Given the description of an element on the screen output the (x, y) to click on. 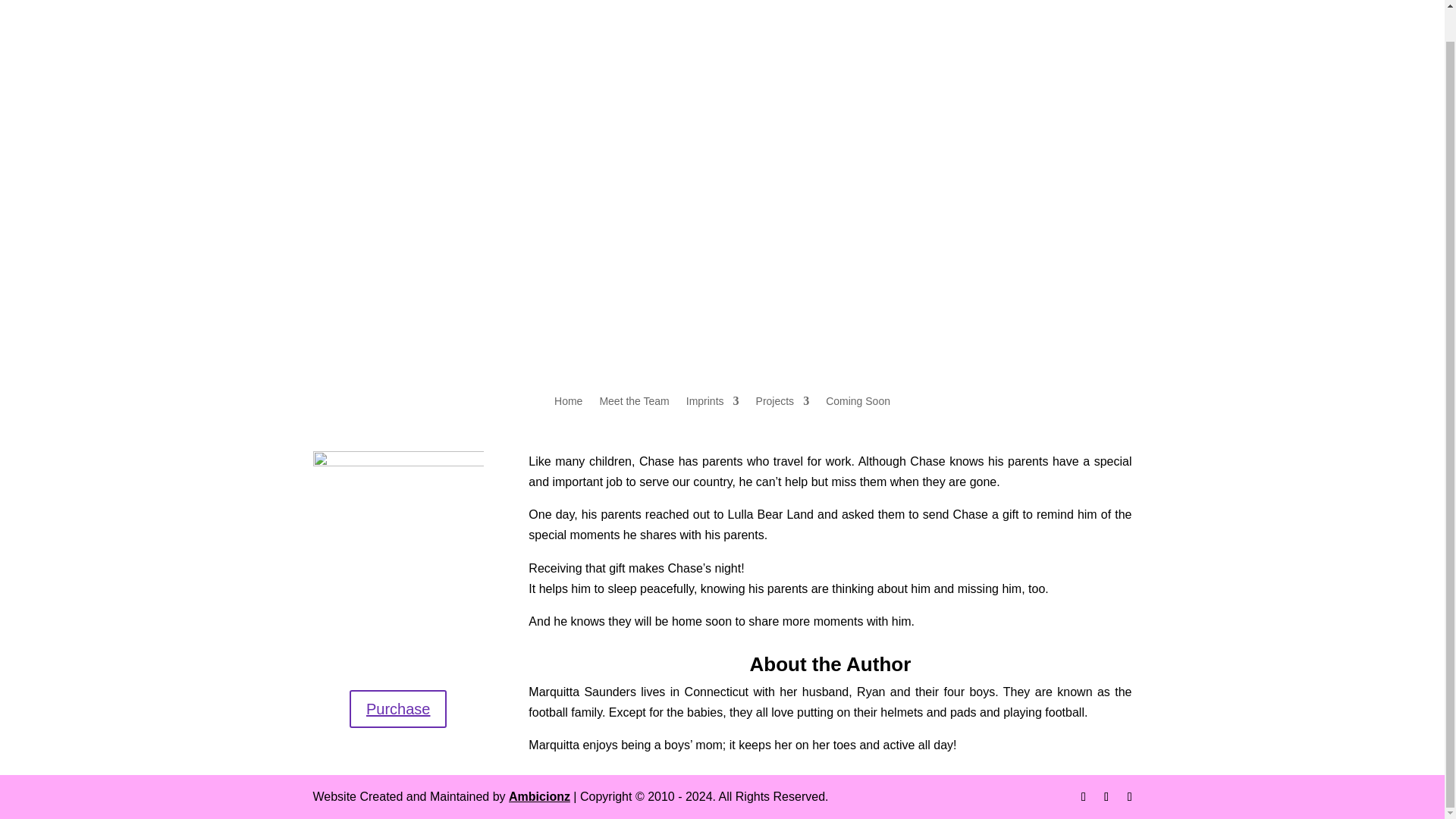
Meet the Team (633, 389)
Ambicionz (539, 796)
Projects (782, 389)
Coming Soon (857, 389)
Purchase (397, 709)
Imprints (712, 389)
